Given the description of an element on the screen output the (x, y) to click on. 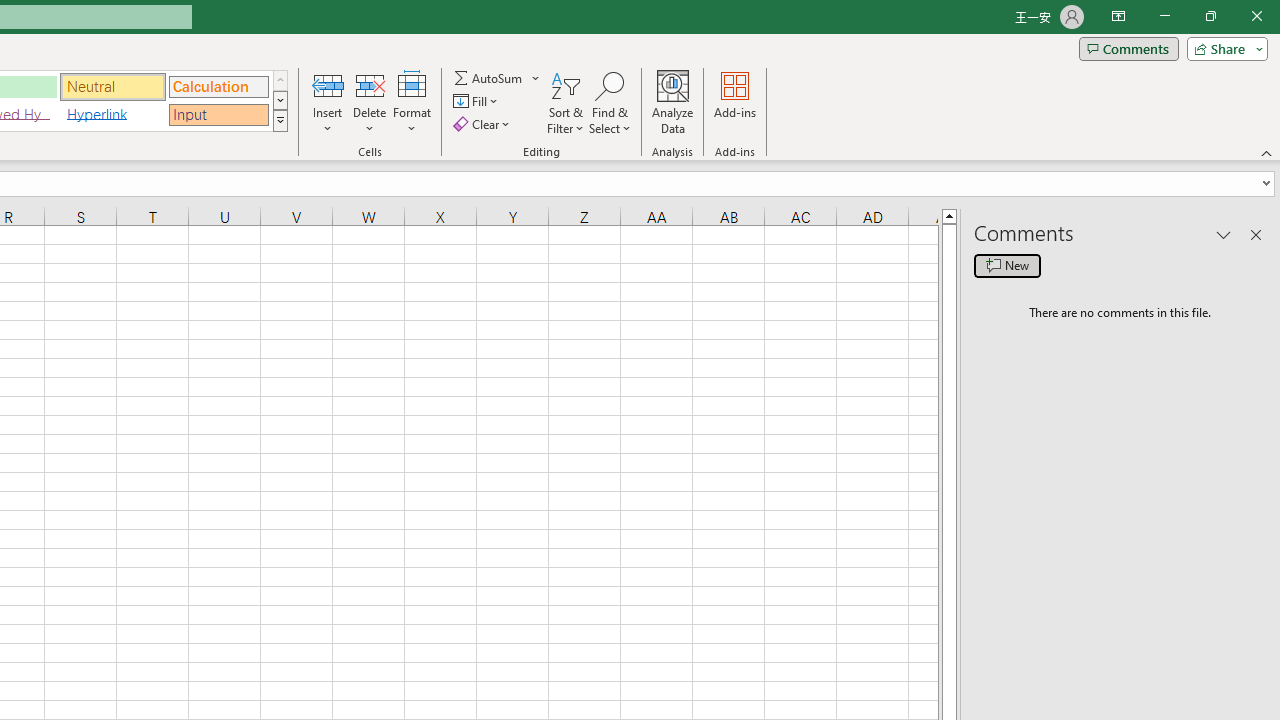
Sum (489, 78)
Ribbon Display Options (1118, 16)
Line up (948, 215)
Neutral (113, 86)
Row Down (280, 100)
Insert (328, 102)
Close (1256, 16)
Format (411, 102)
Calculation (218, 86)
Close pane (1256, 234)
Input (218, 114)
Clear (483, 124)
New comment (1007, 265)
More Options (536, 78)
